Given the description of an element on the screen output the (x, y) to click on. 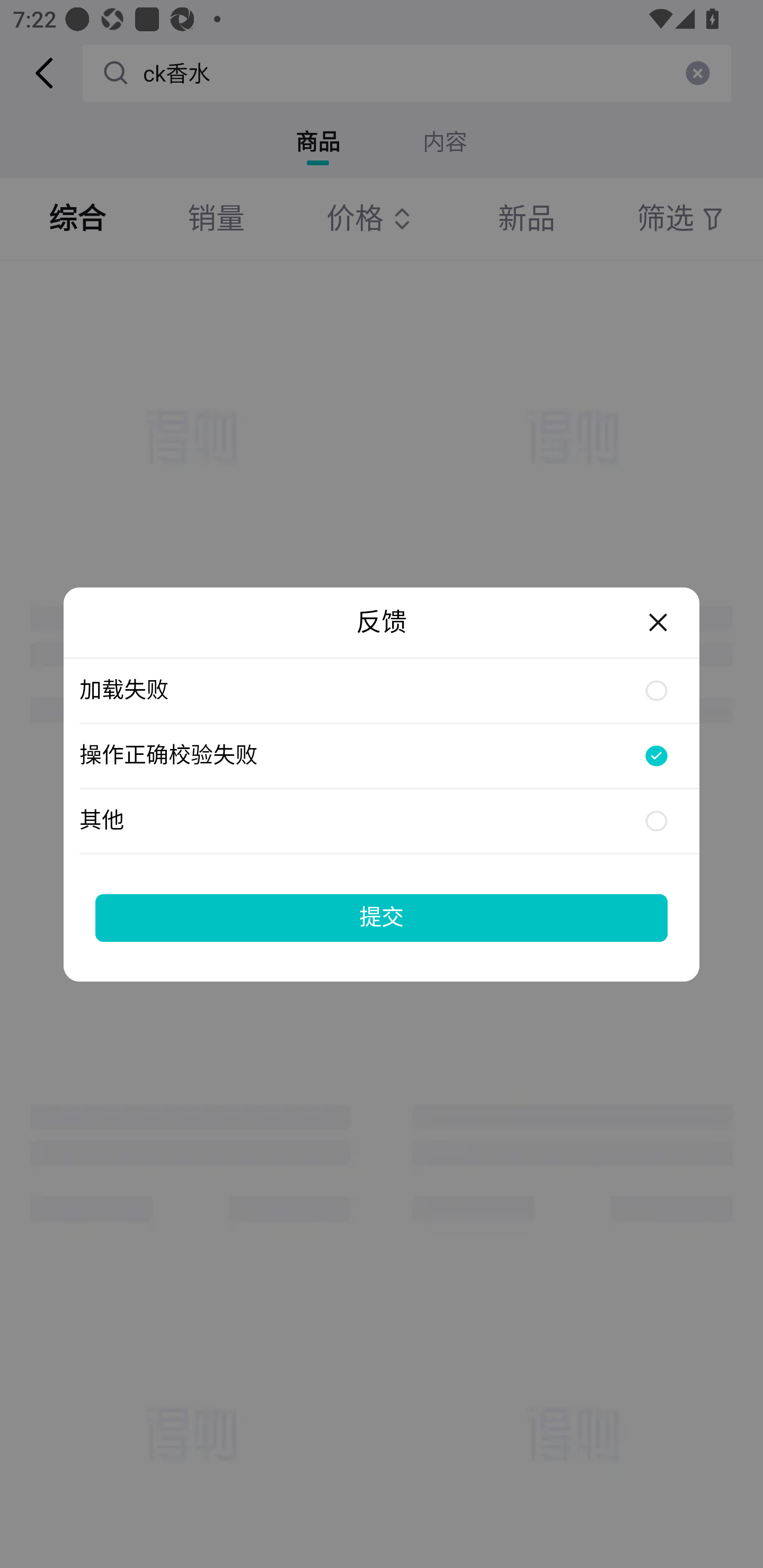
提交 (381, 917)
